Given the description of an element on the screen output the (x, y) to click on. 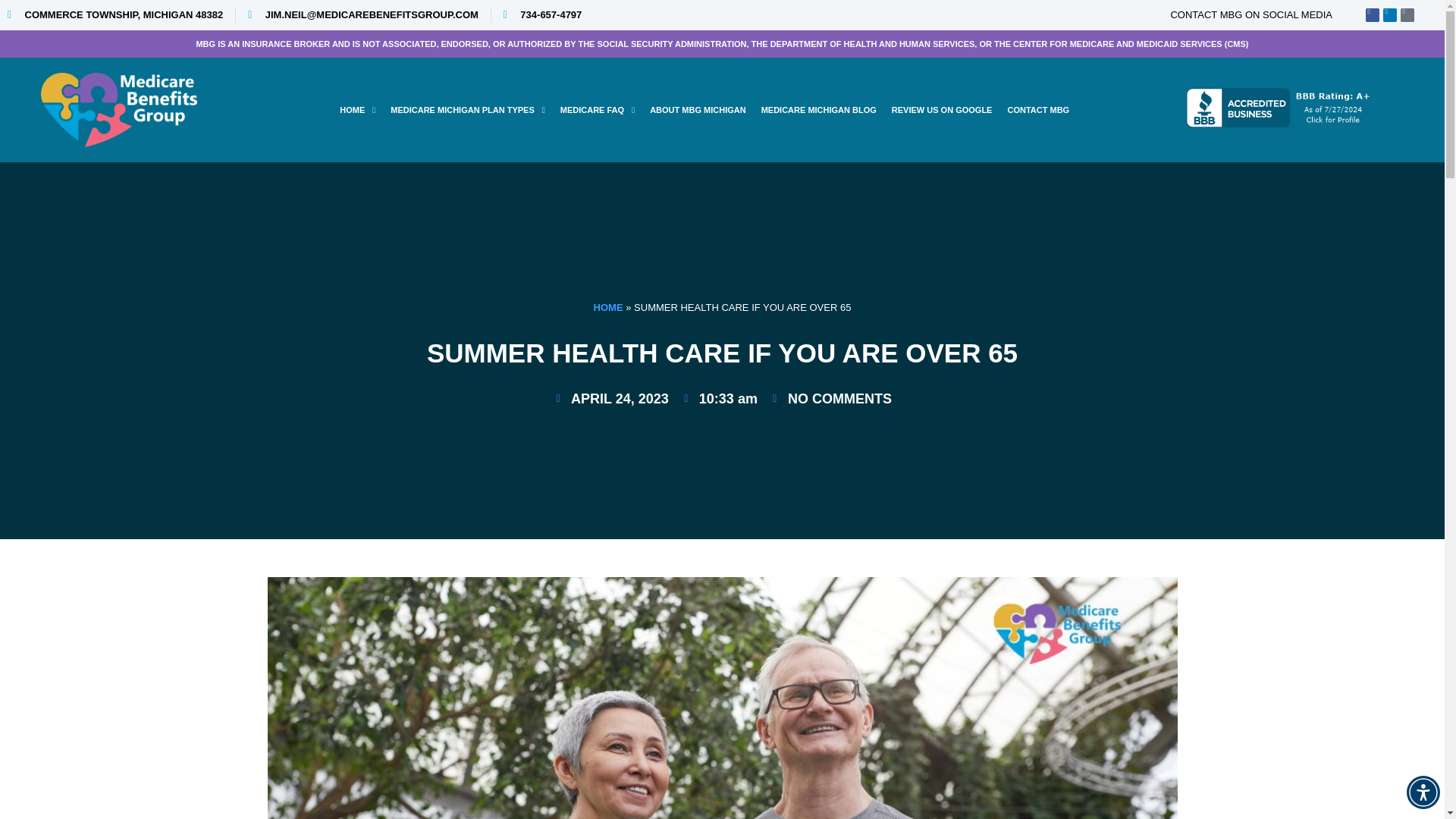
Accessibility Menu (1422, 792)
